Given the description of an element on the screen output the (x, y) to click on. 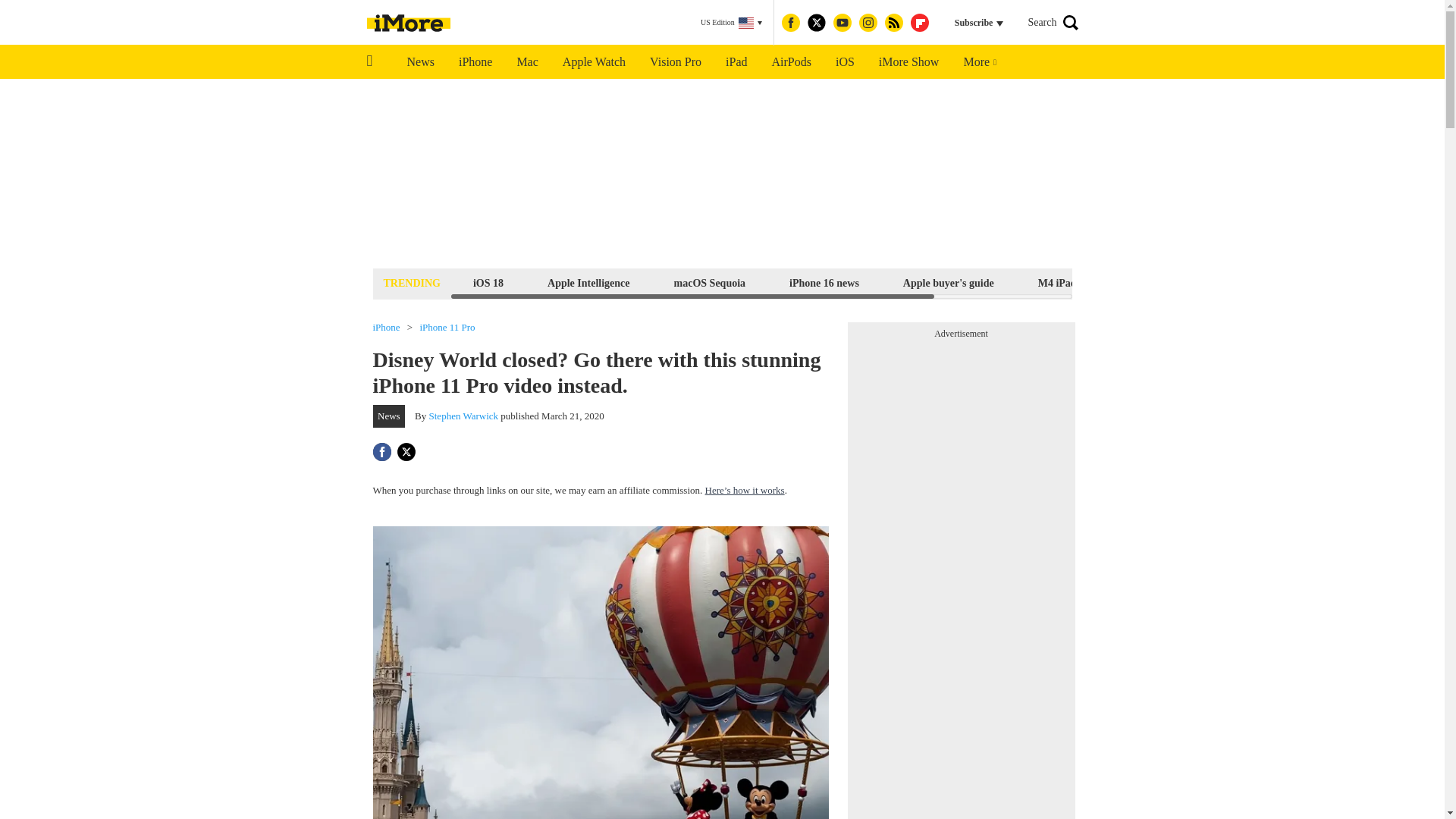
iOS (845, 61)
AirPods (792, 61)
iPad (735, 61)
US Edition (731, 22)
News (419, 61)
iPhone (474, 61)
Vision Pro (675, 61)
iMore Show (909, 61)
Mac (526, 61)
Apple Watch (593, 61)
